Given the description of an element on the screen output the (x, y) to click on. 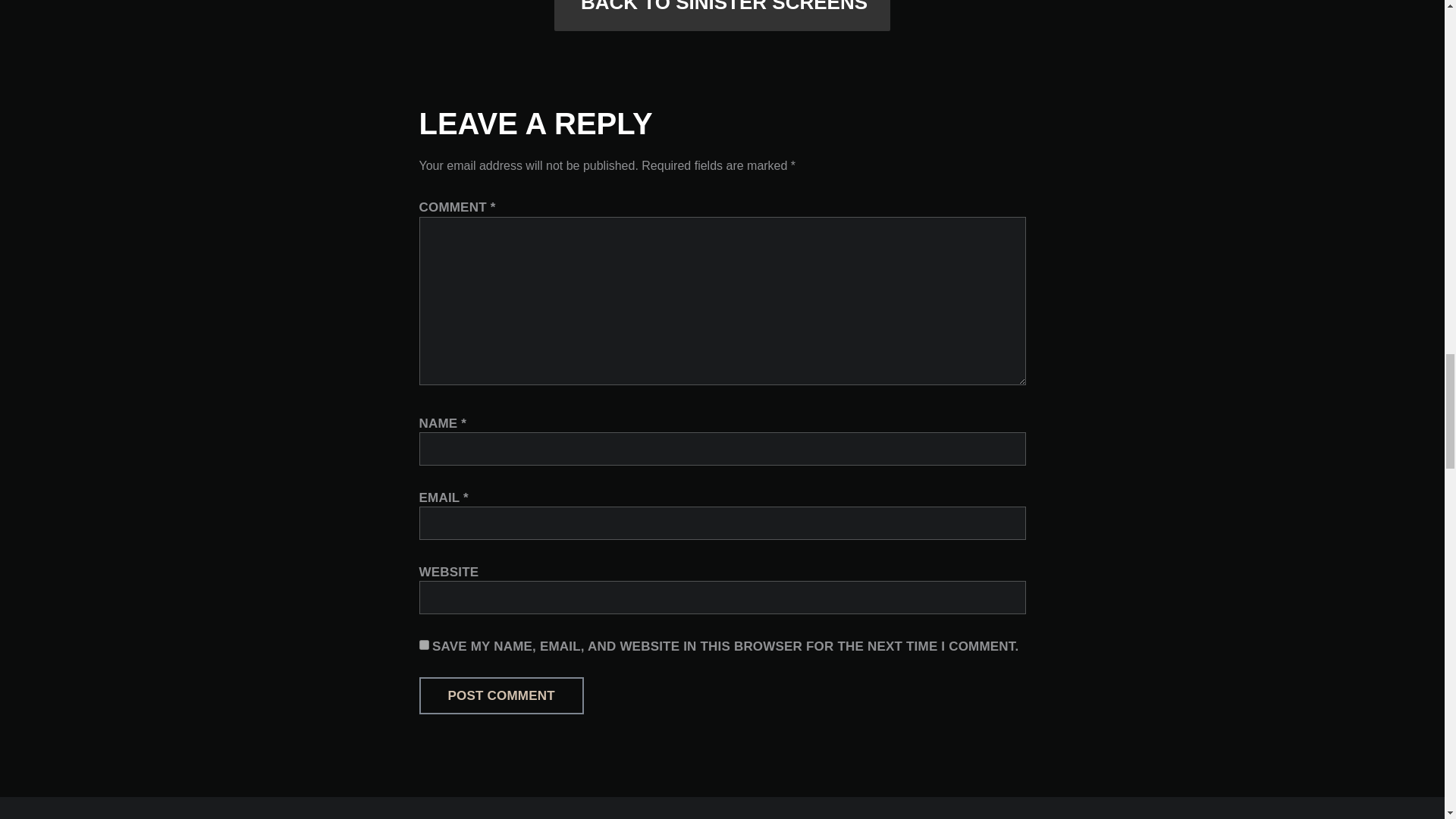
Post Comment (501, 695)
BACK TO SINISTER SCREENS (721, 15)
Post Comment (501, 695)
yes (423, 644)
